Given the description of an element on the screen output the (x, y) to click on. 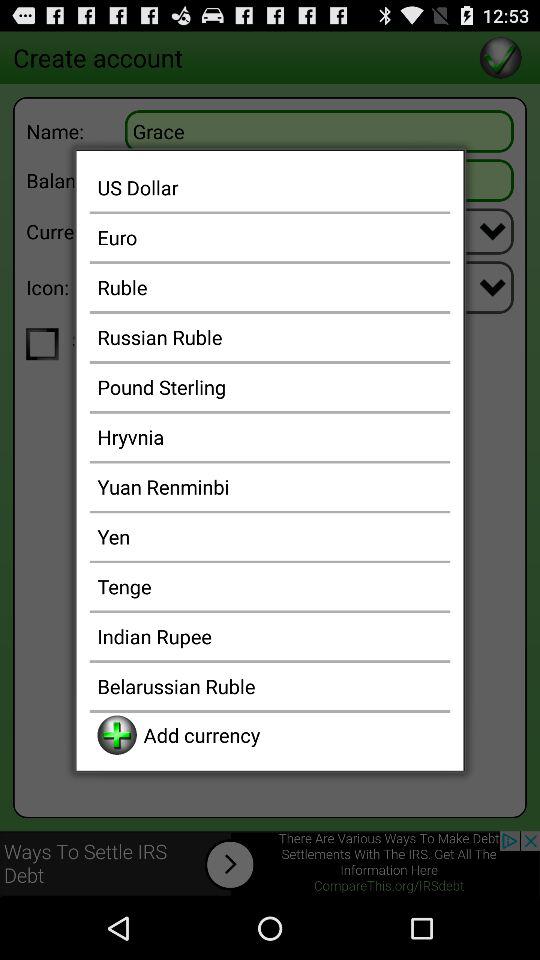
turn off the app next to add currency (116, 734)
